Given the description of an element on the screen output the (x, y) to click on. 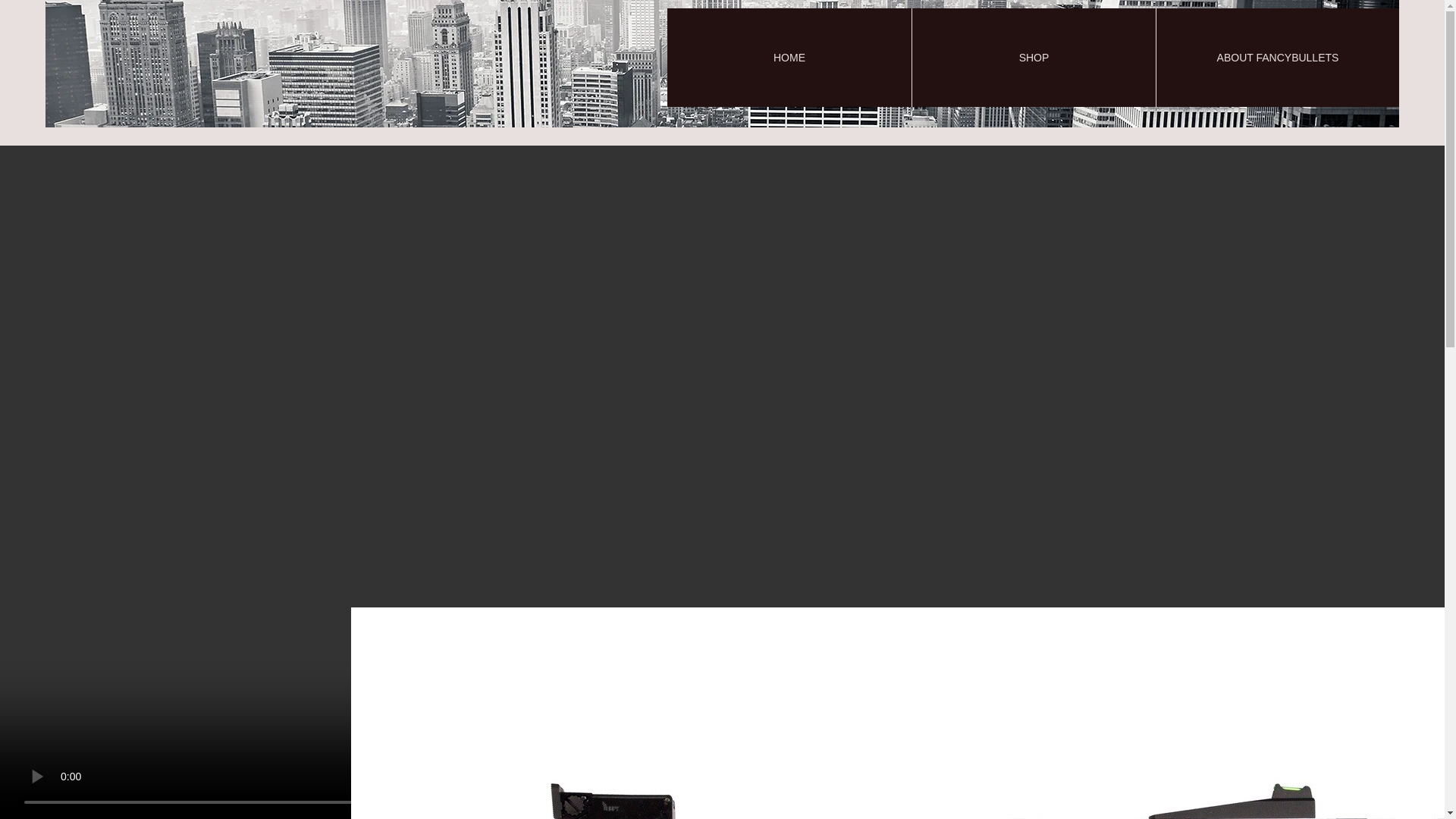
ABOUT FANCYBULLETS (1277, 57)
HOME (788, 57)
SHOP (1033, 57)
